Given the description of an element on the screen output the (x, y) to click on. 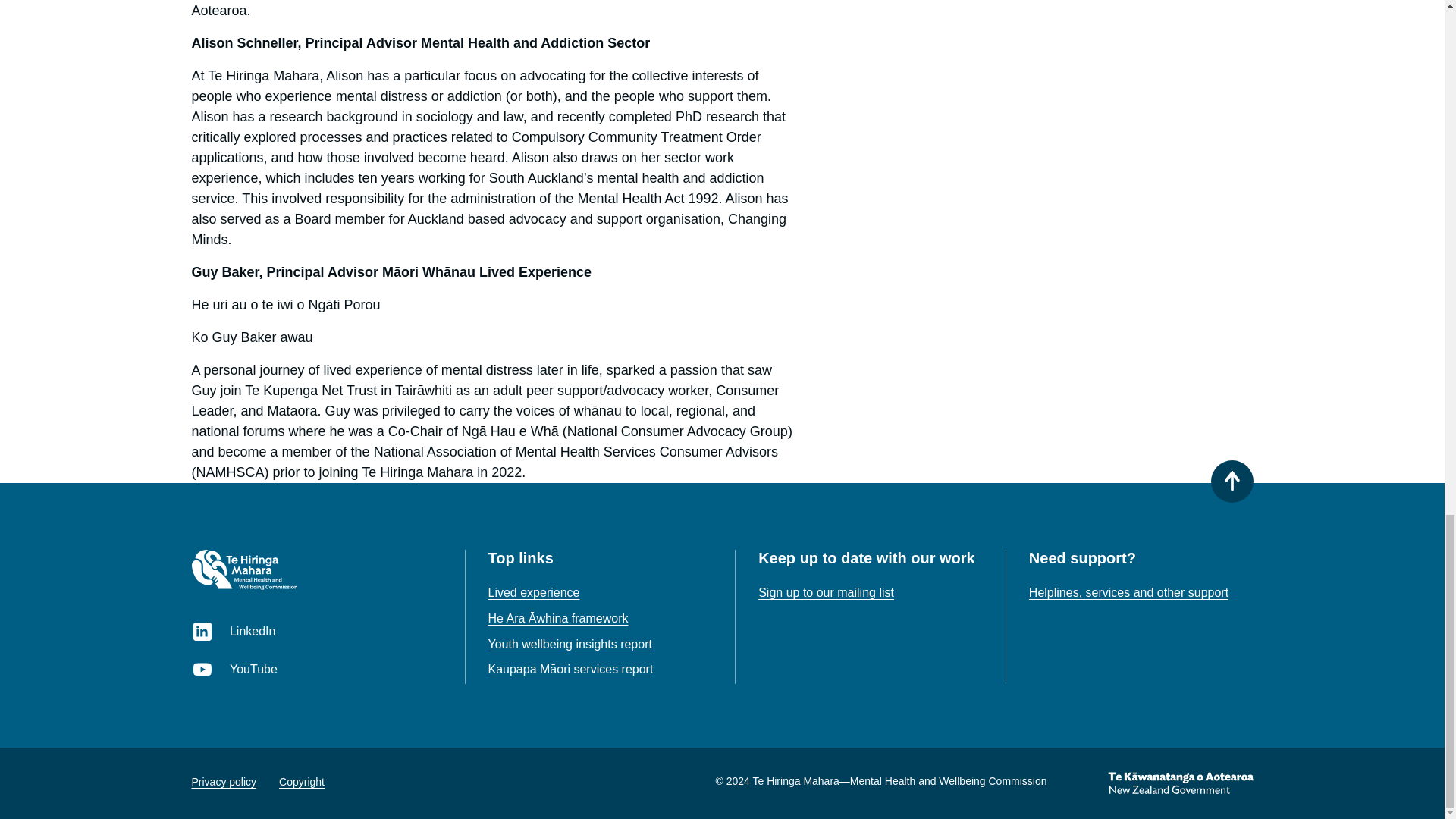
Lived experience (533, 592)
Home (243, 569)
Youth wellbeing insights report (569, 644)
